Given the description of an element on the screen output the (x, y) to click on. 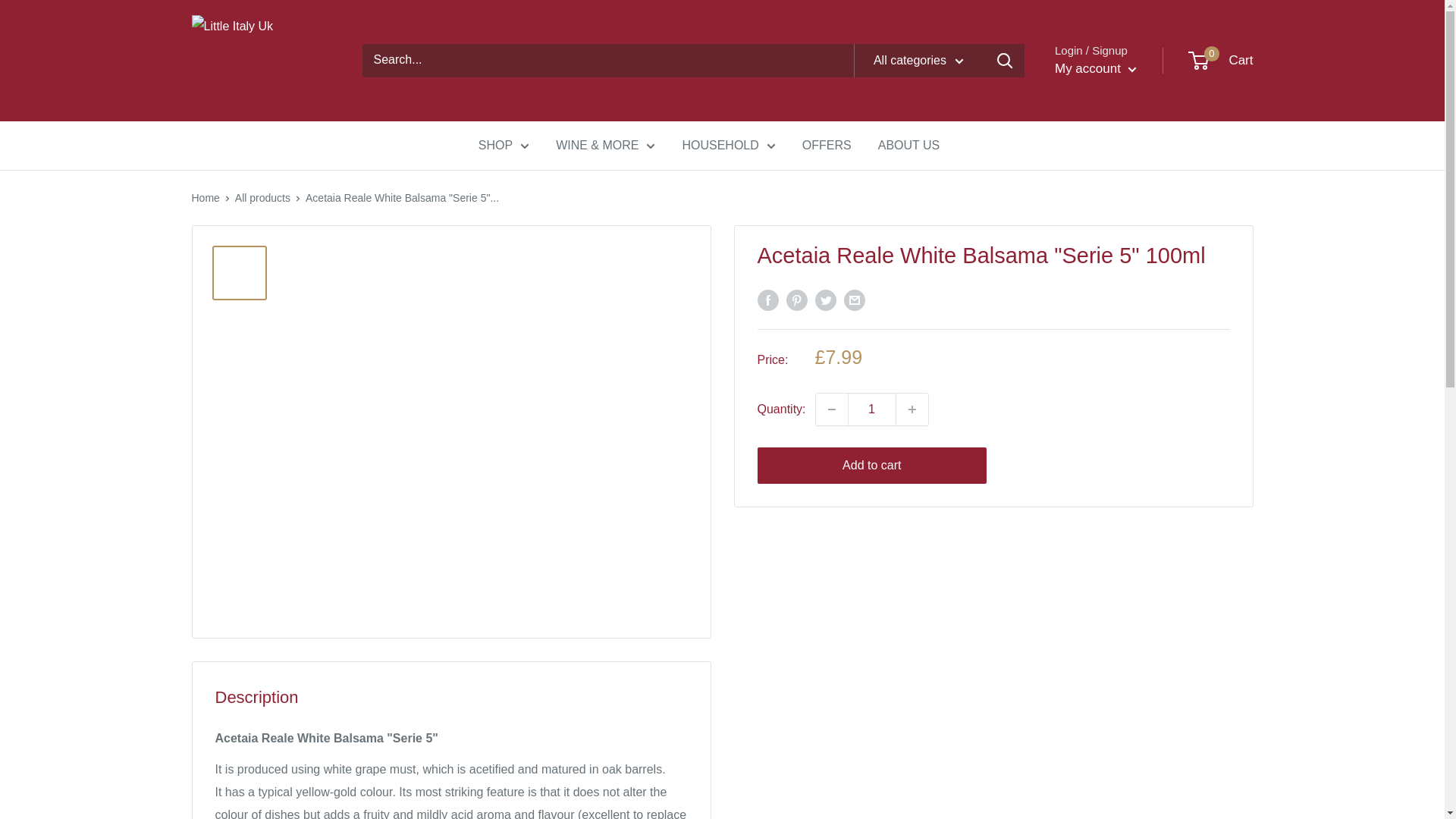
Increase quantity by 1 (912, 409)
1 (871, 409)
Decrease quantity by 1 (831, 409)
